Given the description of an element on the screen output the (x, y) to click on. 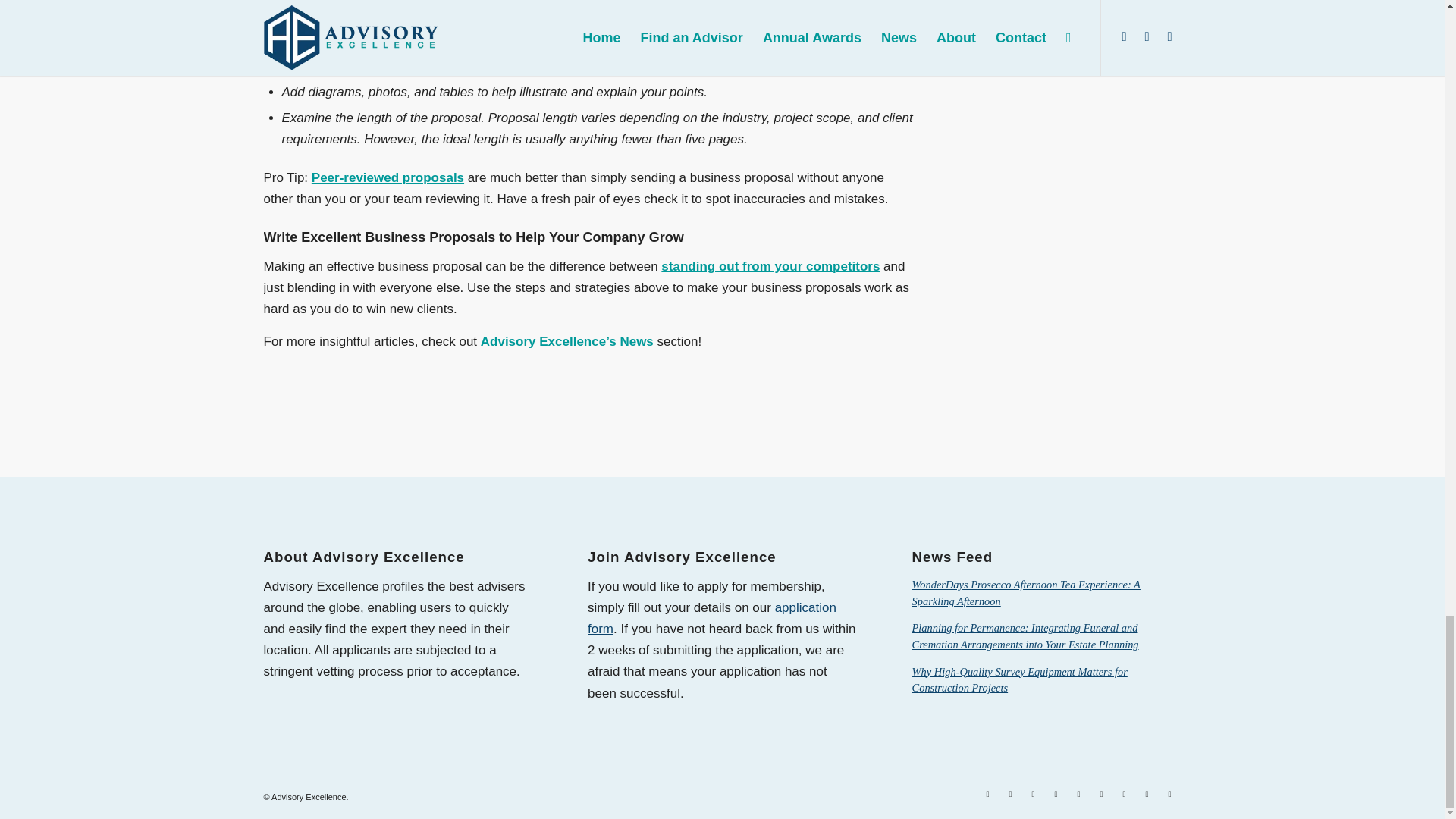
application form (711, 618)
standing out from your competitors (770, 266)
Peer-reviewed proposals (387, 177)
